Given the description of an element on the screen output the (x, y) to click on. 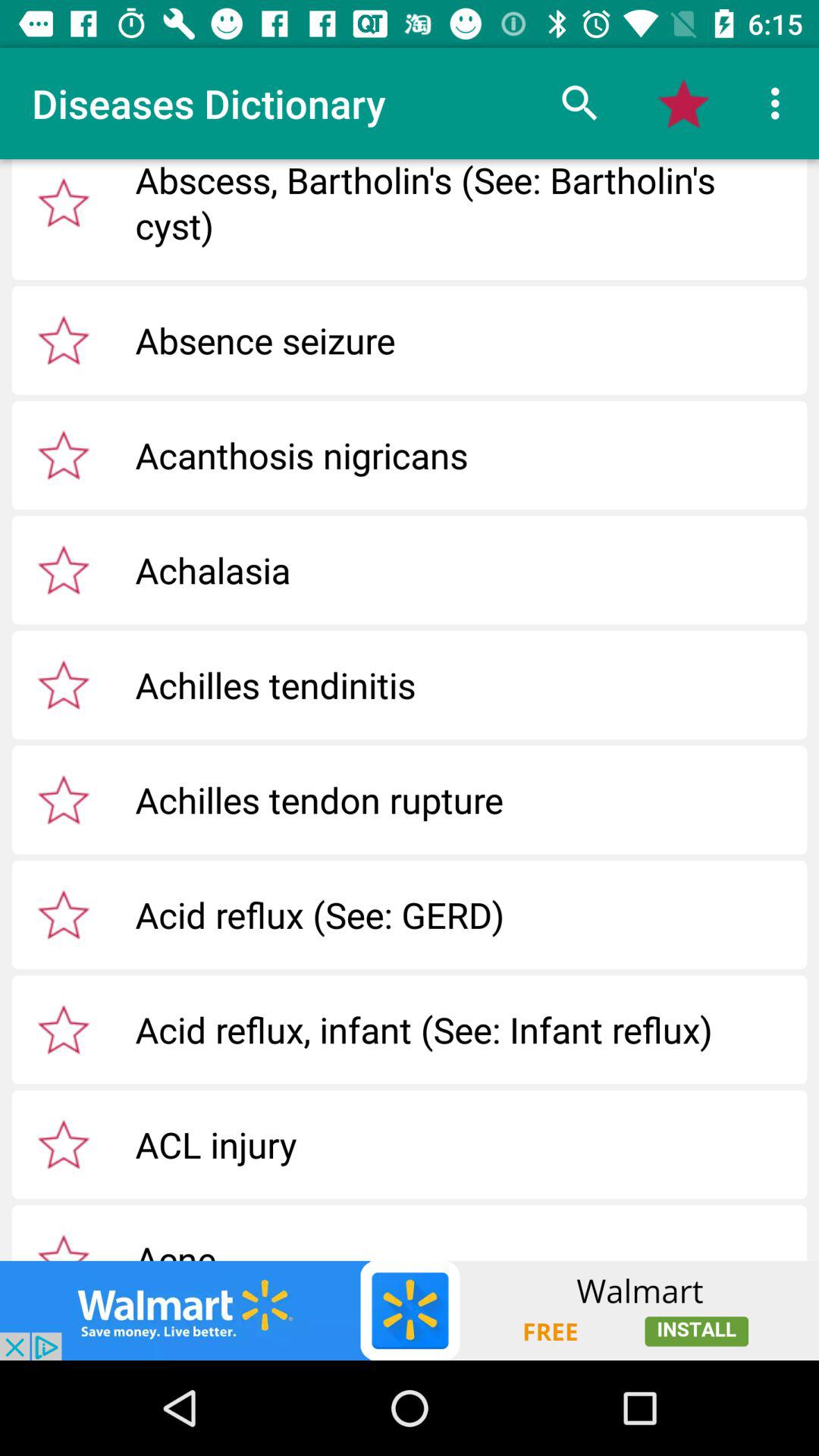
advertisement in the bottom (409, 1310)
